Given the description of an element on the screen output the (x, y) to click on. 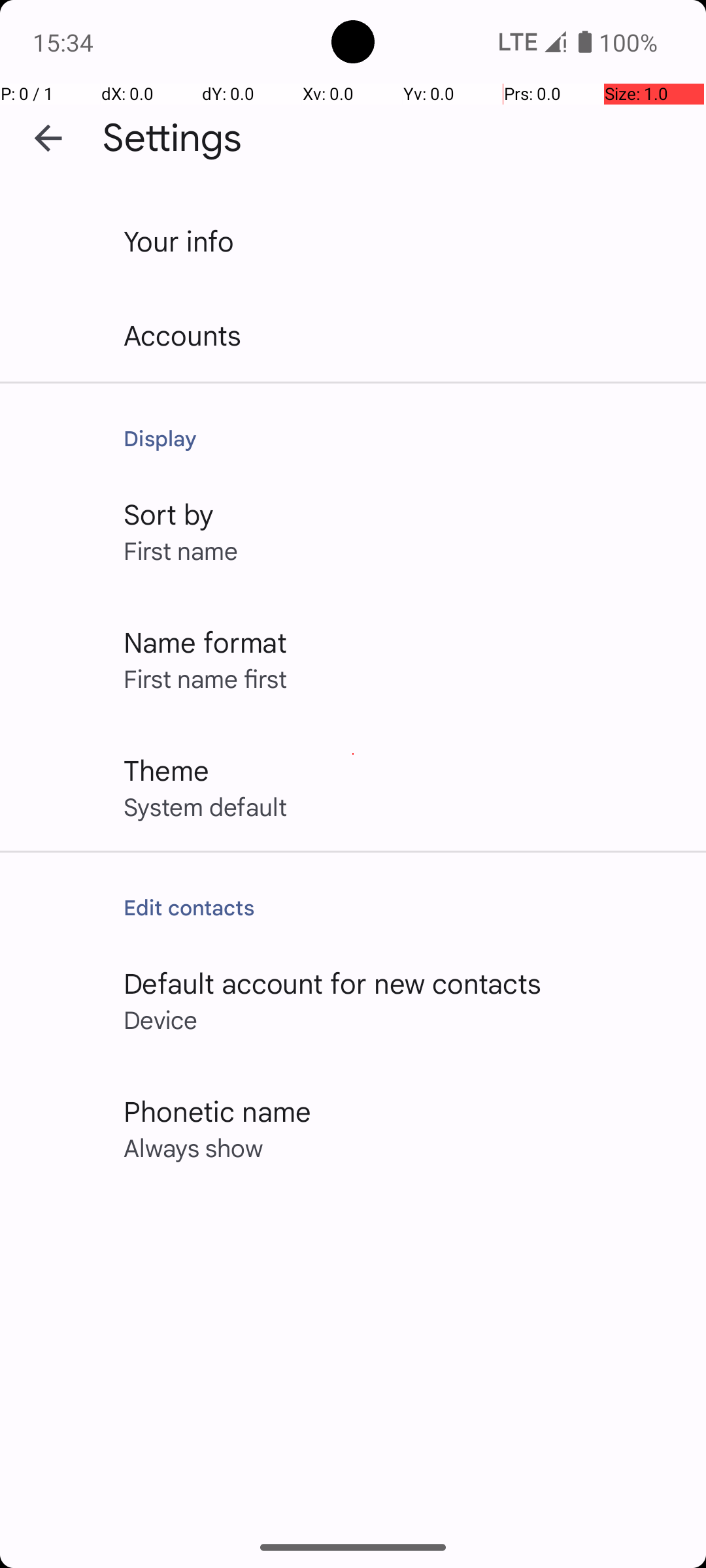
Your info Element type: android.widget.TextView (178, 240)
Accounts Element type: android.widget.TextView (182, 334)
Display Element type: android.widget.TextView (400, 437)
Name format Element type: android.widget.TextView (205, 641)
First name first Element type: android.widget.TextView (204, 678)
Edit contacts Element type: android.widget.TextView (400, 906)
Default account for new contacts Element type: android.widget.TextView (332, 982)
Phonetic name Element type: android.widget.TextView (217, 1110)
Always show Element type: android.widget.TextView (192, 1147)
